Given the description of an element on the screen output the (x, y) to click on. 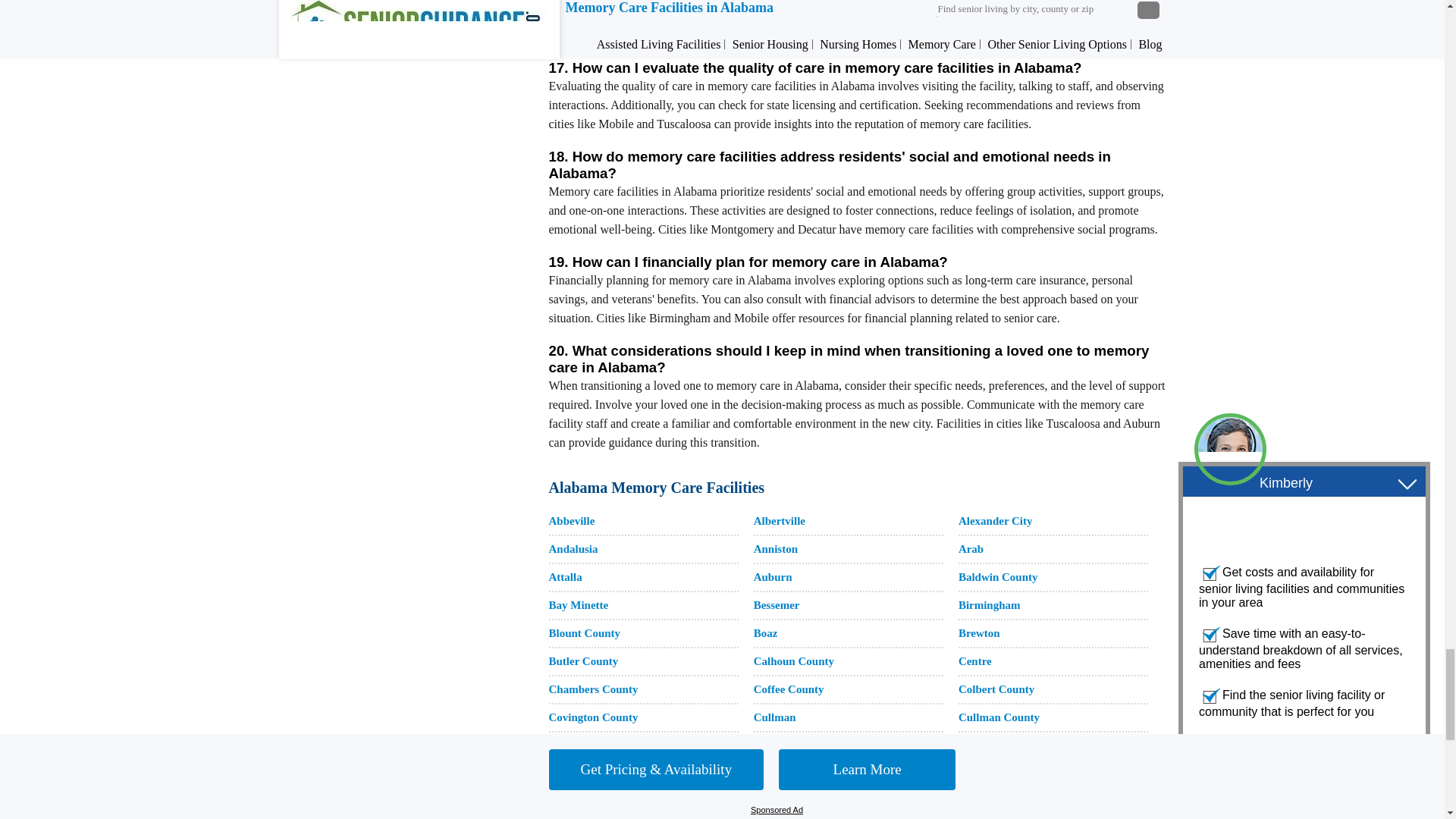
Auburn (773, 576)
Alexander City (995, 521)
Baldwin County (998, 576)
Abbeville (571, 521)
Memory Care Facilities in Anniston, AL (775, 548)
Bay Minette (578, 604)
Andalusia (573, 548)
Bessemer (776, 604)
Memory Care Facilities in Arab, AL (971, 548)
Memory Care Facilities in Albertville, AL (779, 521)
Memory Care Facilities in Abbeville, AL (571, 521)
Albertville (779, 521)
Anniston (775, 548)
Arab (971, 548)
Attalla (565, 576)
